Given the description of an element on the screen output the (x, y) to click on. 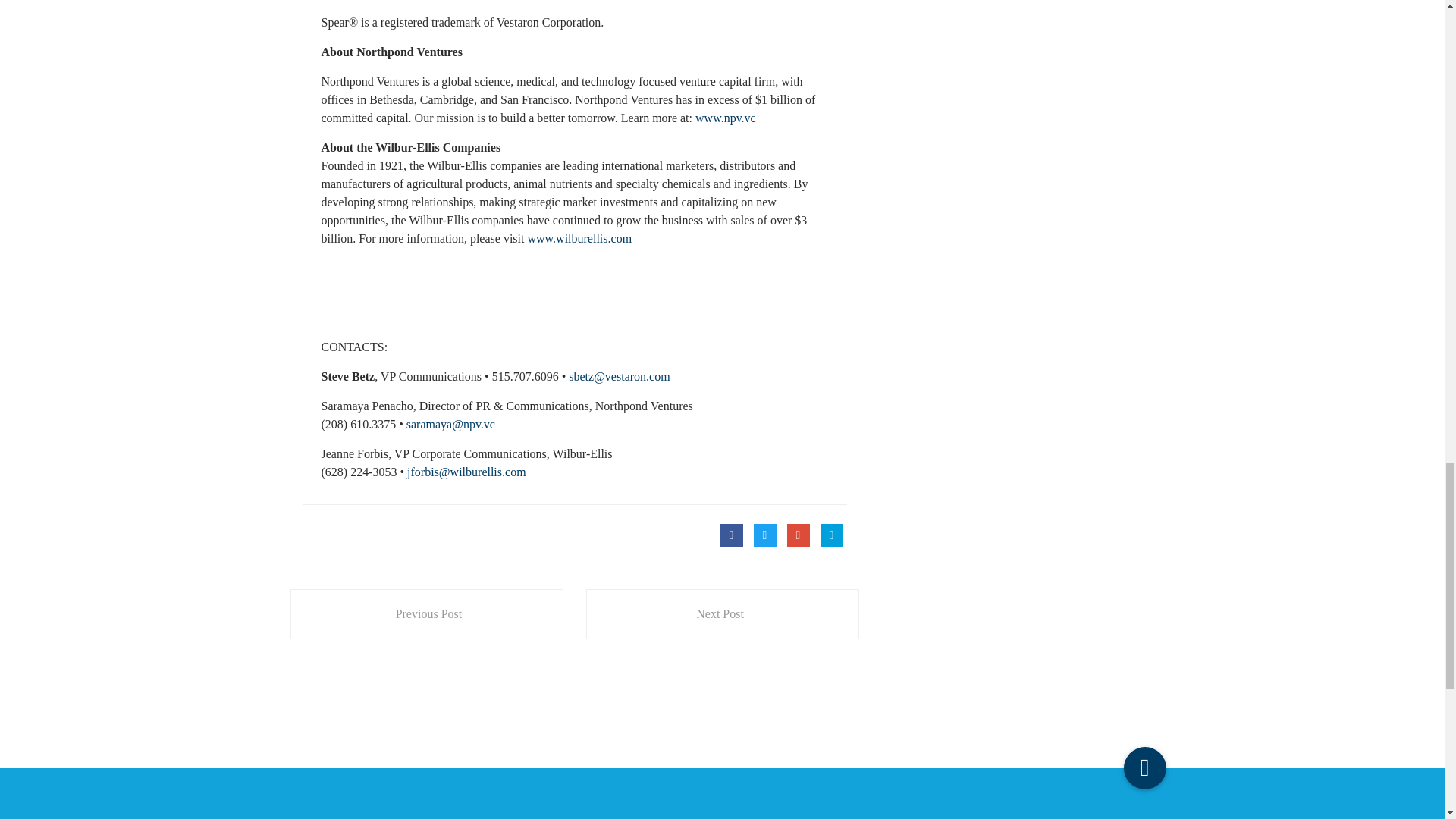
Share on Linkedin! (832, 535)
Share on Twitter! (765, 535)
Share on Facebook! (731, 535)
